Given the description of an element on the screen output the (x, y) to click on. 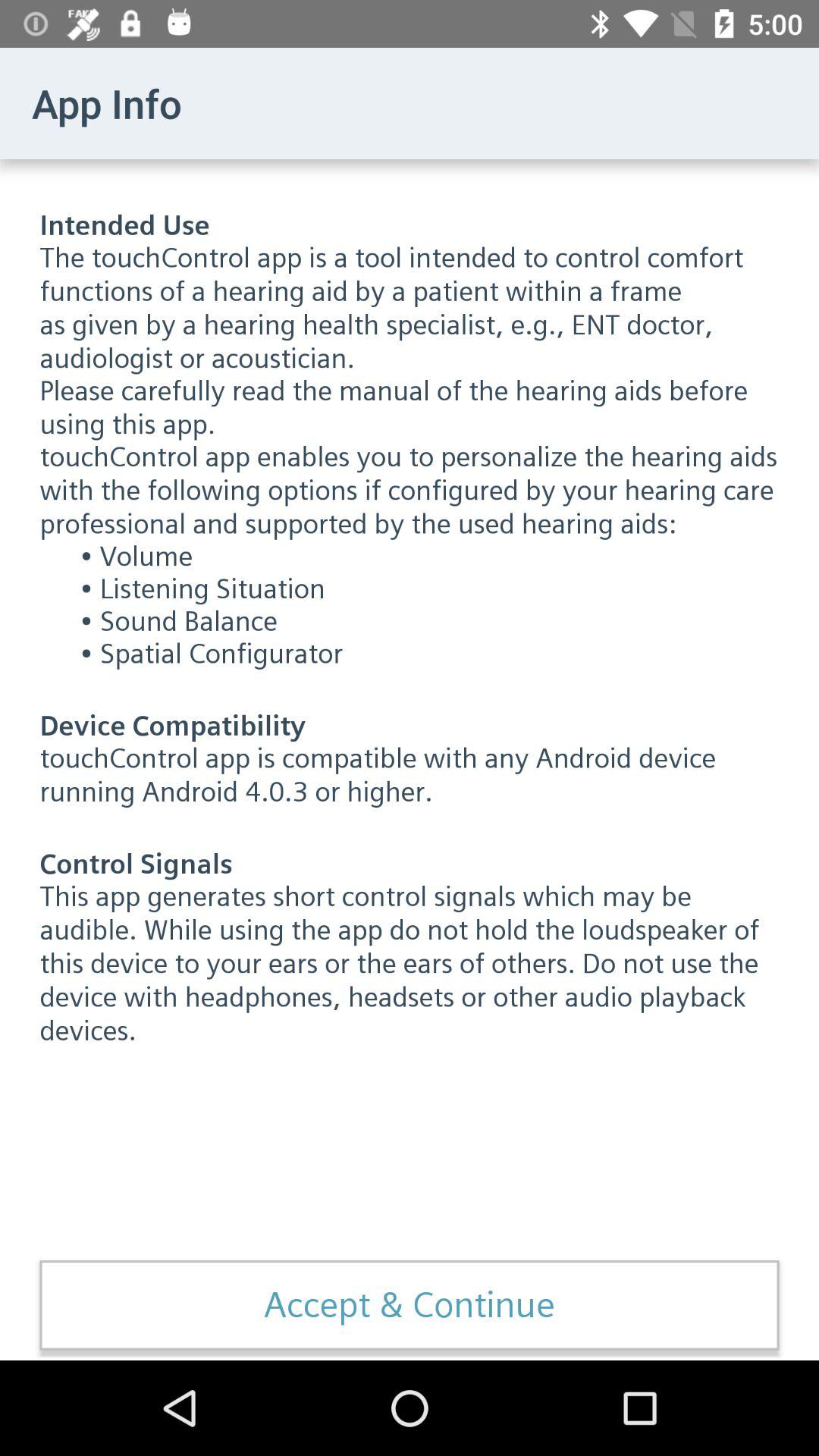
scroll until the accept & continue item (409, 1305)
